Given the description of an element on the screen output the (x, y) to click on. 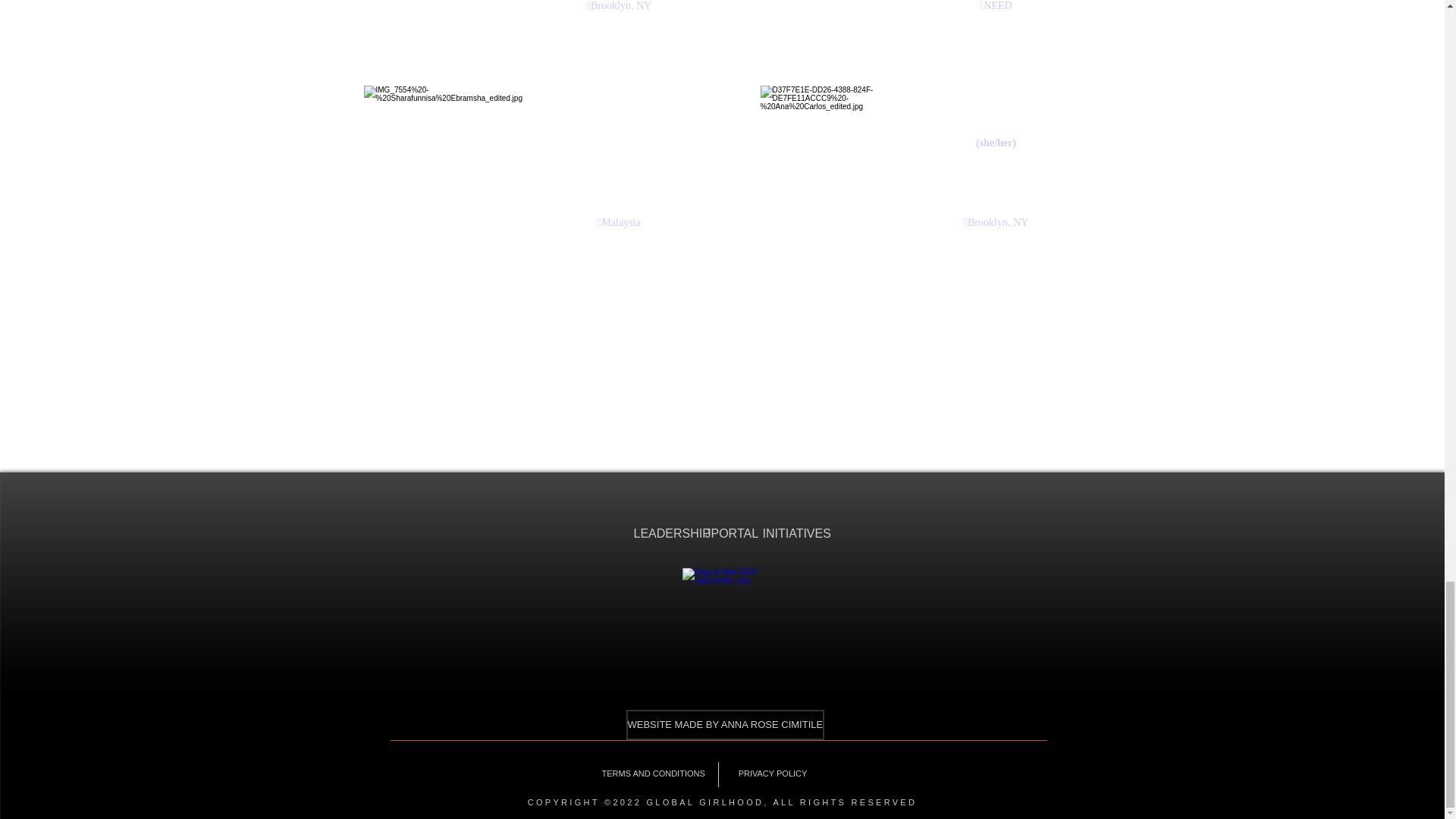
INITIATIVES (786, 533)
JPORTAL (722, 533)
PRIVACY POLICY (772, 774)
TERMS AND CONDITIONS (652, 774)
LEADERSHIP (657, 533)
